Given the description of an element on the screen output the (x, y) to click on. 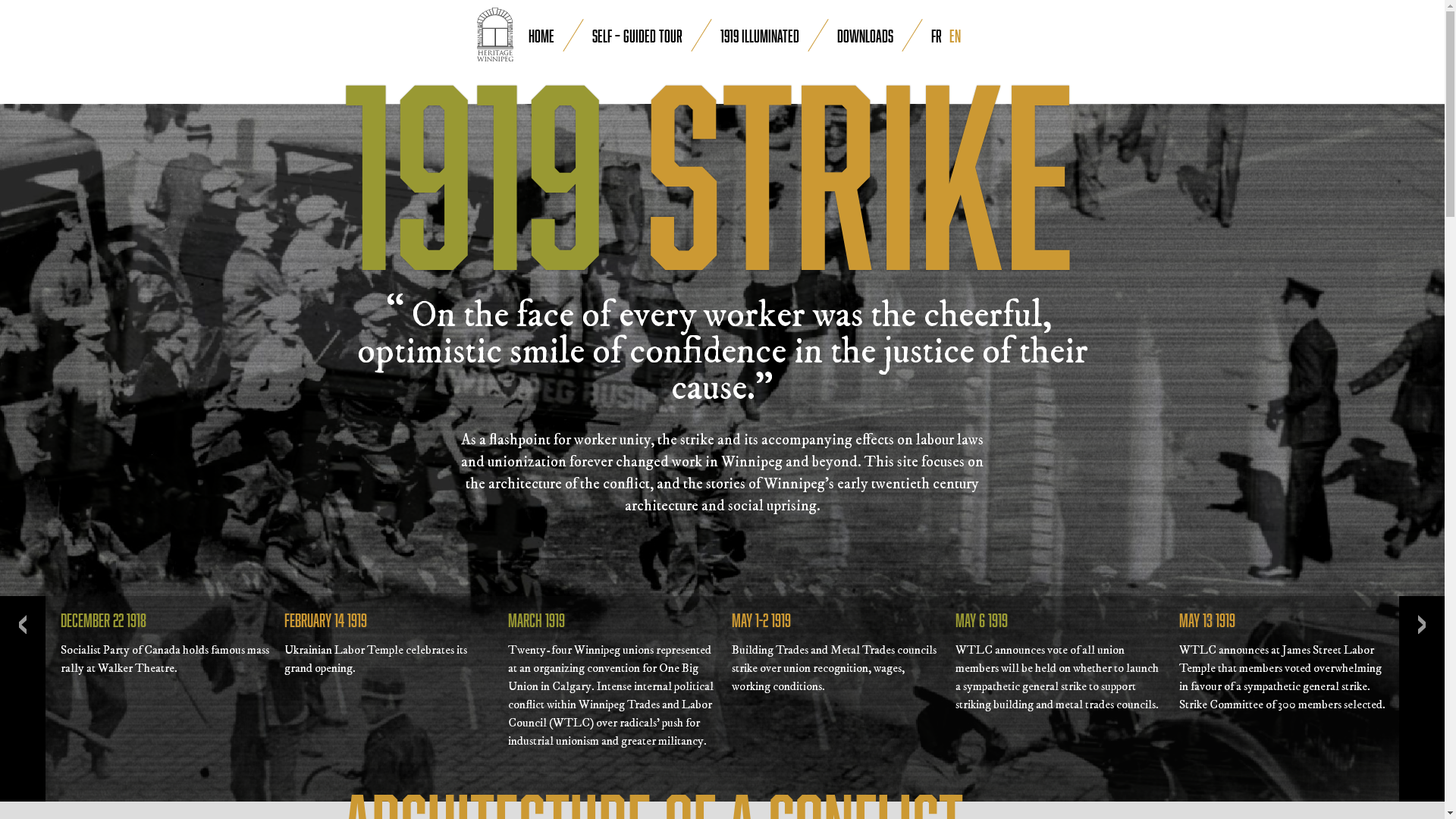
fr Element type: text (940, 35)
Home Element type: text (540, 35)
en Element type: text (958, 35)
Downloads Element type: text (865, 35)
1919 Illuminated Element type: text (759, 35)
